Given the description of an element on the screen output the (x, y) to click on. 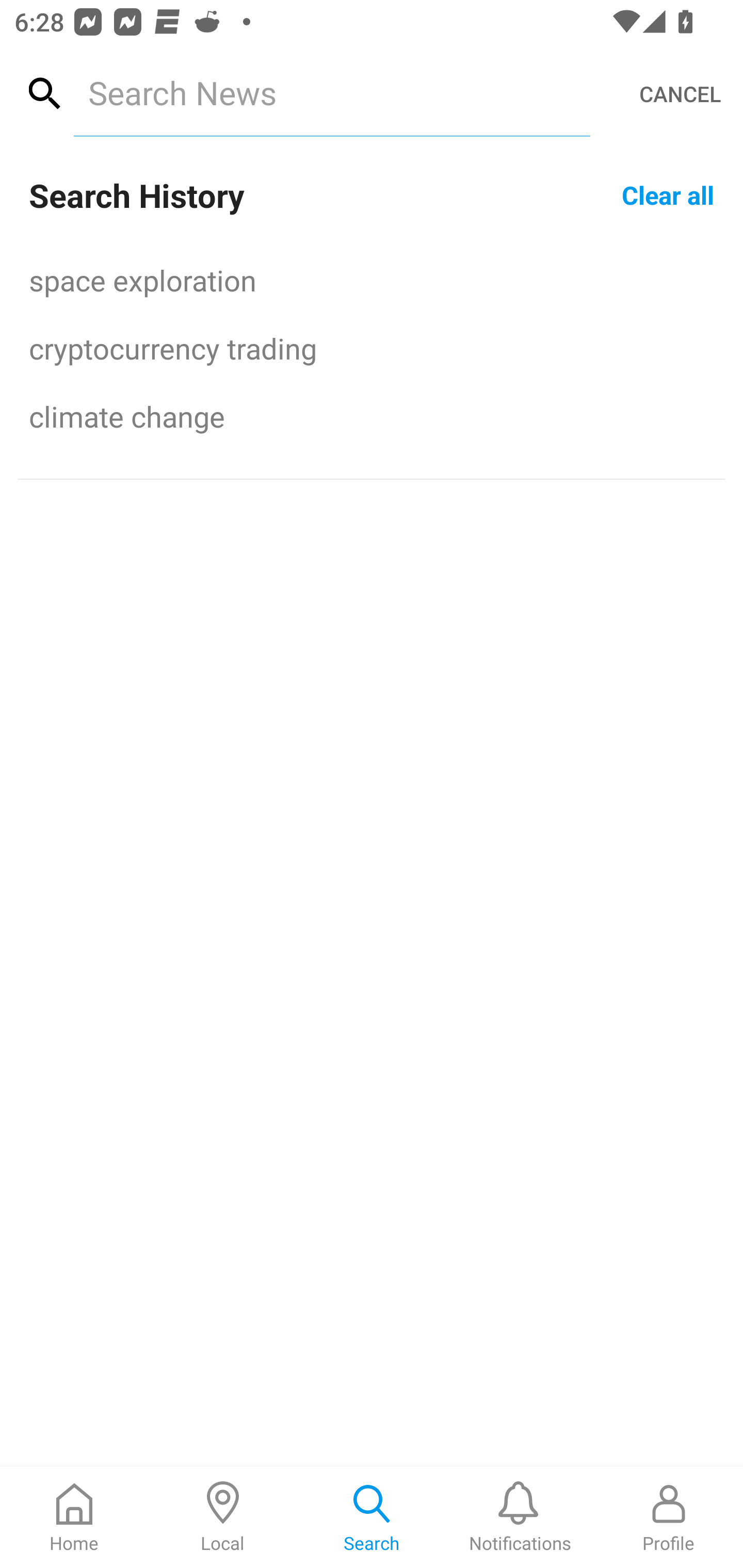
CANCEL (680, 93)
Search News (331, 92)
Clear all (667, 194)
space exploration (371, 279)
cryptocurrency trading (371, 347)
climate change (371, 416)
Home (74, 1517)
Local (222, 1517)
Notifications (519, 1517)
Profile (668, 1517)
